Given the description of an element on the screen output the (x, y) to click on. 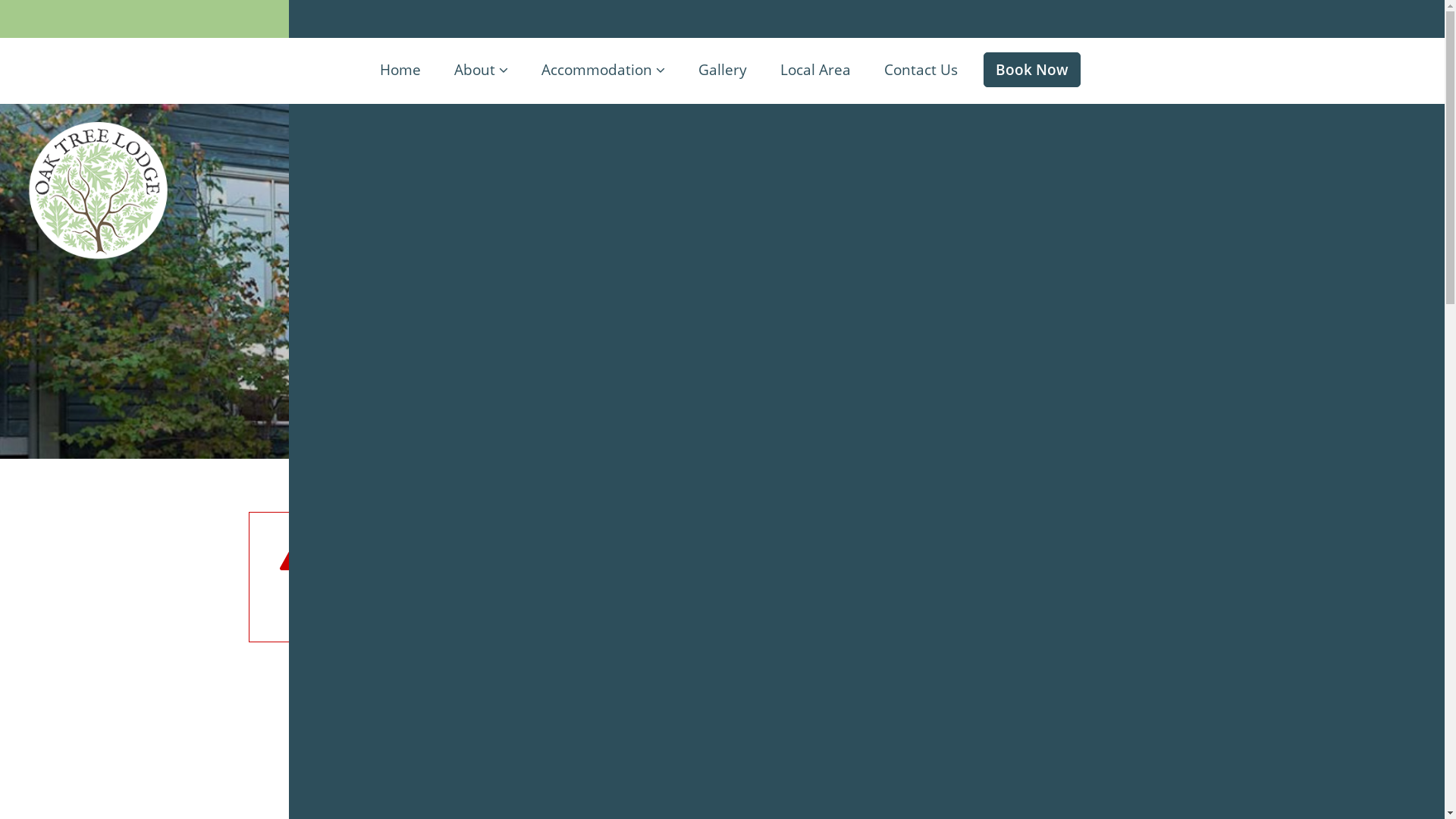
Book Now Element type: text (1030, 69)
Home Element type: text (399, 70)
About Element type: text (480, 70)
Local Area Element type: text (814, 70)
  03 5956 9090 Element type: text (446, 18)
Gallery Element type: text (721, 70)
home Element type: text (419, 601)
   32-34 Walton Street, Rhyll, Phillip Island, Victoria 3923 Element type: text (883, 18)
Accommodation Element type: text (603, 70)
contact us Element type: text (484, 601)
  info@oaktreelodge.com.au Element type: text (609, 18)
Contact Us Element type: text (920, 70)
